Given the description of an element on the screen output the (x, y) to click on. 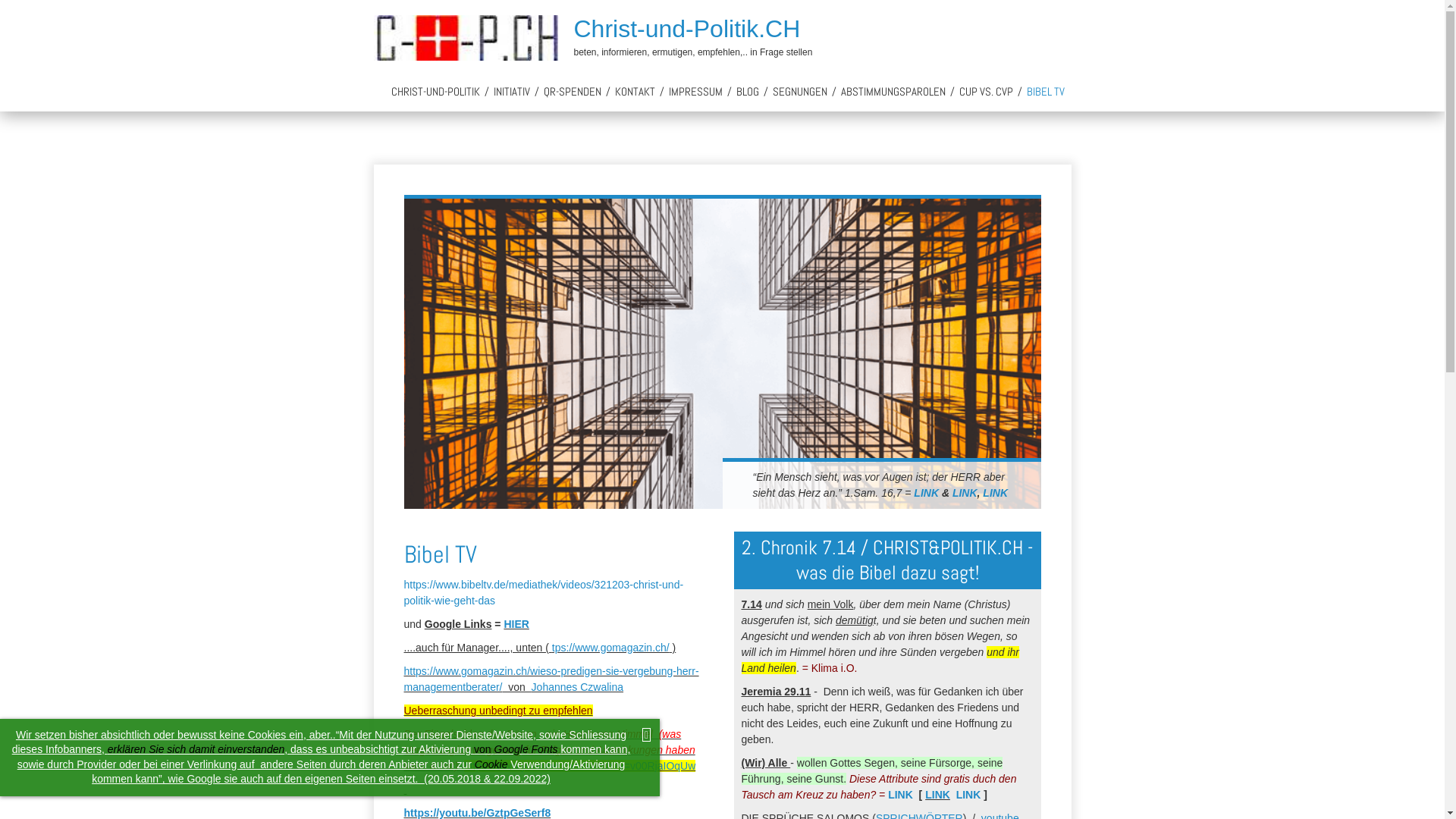
LINK Element type: text (937, 794)
Christ-und-Politik.CH Element type: text (686, 28)
CUP VS. CVP Element type: text (986, 90)
Cookies Element type: text (266, 734)
QR-SPENDEN Element type: text (572, 90)
LINK Element type: text (900, 794)
HIER Element type: text (515, 624)
LINK Element type: text (964, 492)
KONTAKT Element type: text (634, 90)
SEGNUNGEN Element type: text (799, 90)
ABSTIMMUNGSPAROLEN Element type: text (892, 90)
INITIATIV Element type: text (511, 90)
LINK Element type: text (994, 492)
BLOG Element type: text (747, 90)
  Element type: text (763, 604)
LINK Element type: text (925, 492)
BIBEL TV Element type: text (1044, 90)
tps://www.gomagazin.ch/ Element type: text (610, 647)
IMPRESSUM Element type: text (694, 90)
CHRIST-UND-POLITIK Element type: text (434, 90)
Johannes Czwalina Element type: text (577, 686)
https://www.youtube.com/watch?v=v00RjaIOqUw Element type: text (579, 765)
LINK Element type: text (968, 794)
